Given the description of an element on the screen output the (x, y) to click on. 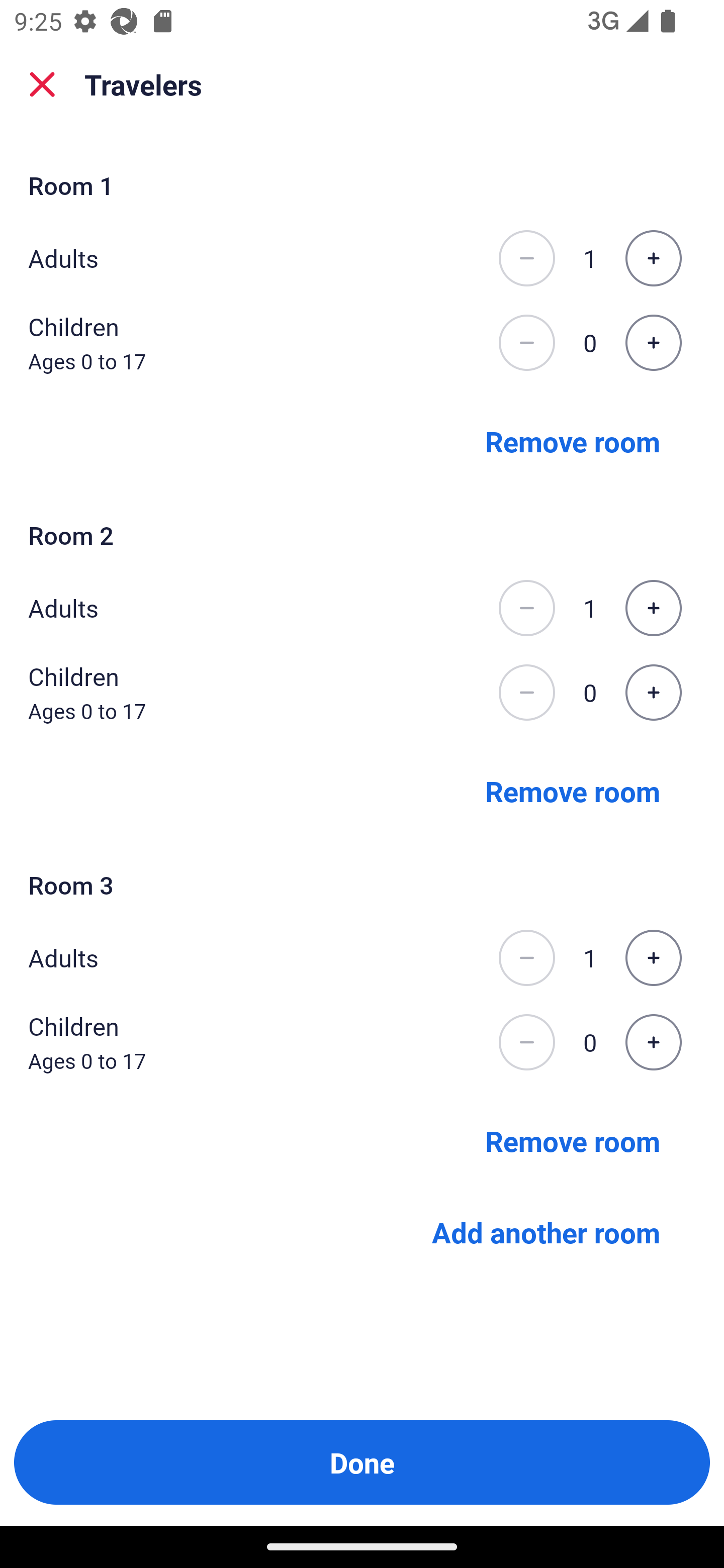
close (42, 84)
Decrease the number of adults (526, 258)
Increase the number of adults (653, 258)
Decrease the number of children (526, 343)
Increase the number of children (653, 343)
Remove room (572, 440)
Decrease the number of adults (526, 608)
Increase the number of adults (653, 608)
Decrease the number of children (526, 692)
Increase the number of children (653, 692)
Remove room (572, 790)
Decrease the number of adults (526, 957)
Increase the number of adults (653, 957)
Decrease the number of children (526, 1042)
Increase the number of children (653, 1042)
Remove room (572, 1140)
Add another room (545, 1232)
Done (361, 1462)
